Given the description of an element on the screen output the (x, y) to click on. 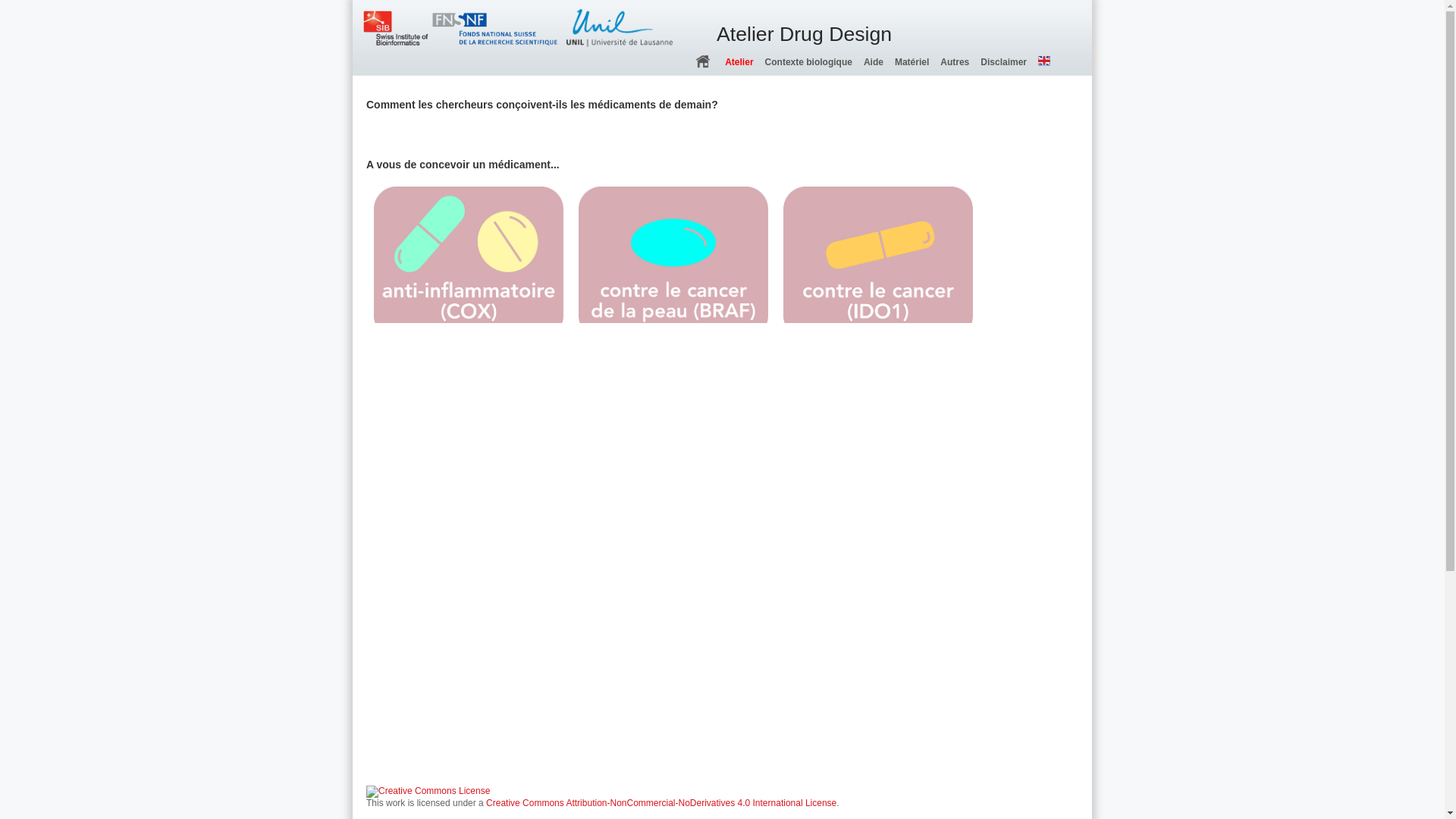
Disclaimer Element type: text (997, 62)
Atelier Element type: text (733, 62)
Atelier Drug Design Element type: text (722, 11)
Aide Element type: text (867, 62)
Autres Element type: text (948, 62)
Contexte biologique Element type: text (802, 62)
